Given the description of an element on the screen output the (x, y) to click on. 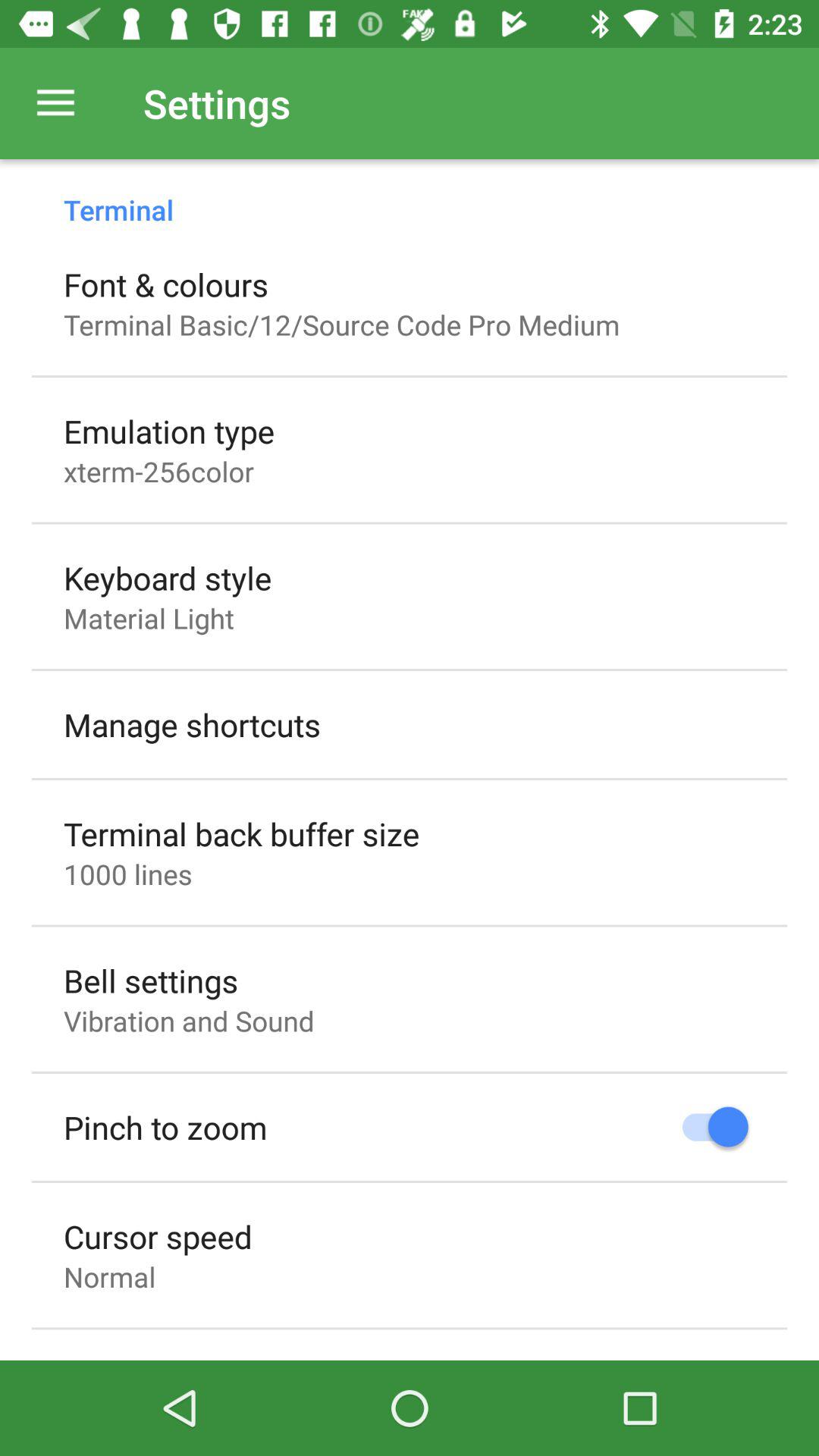
turn off the xterm-256color item (158, 471)
